Given the description of an element on the screen output the (x, y) to click on. 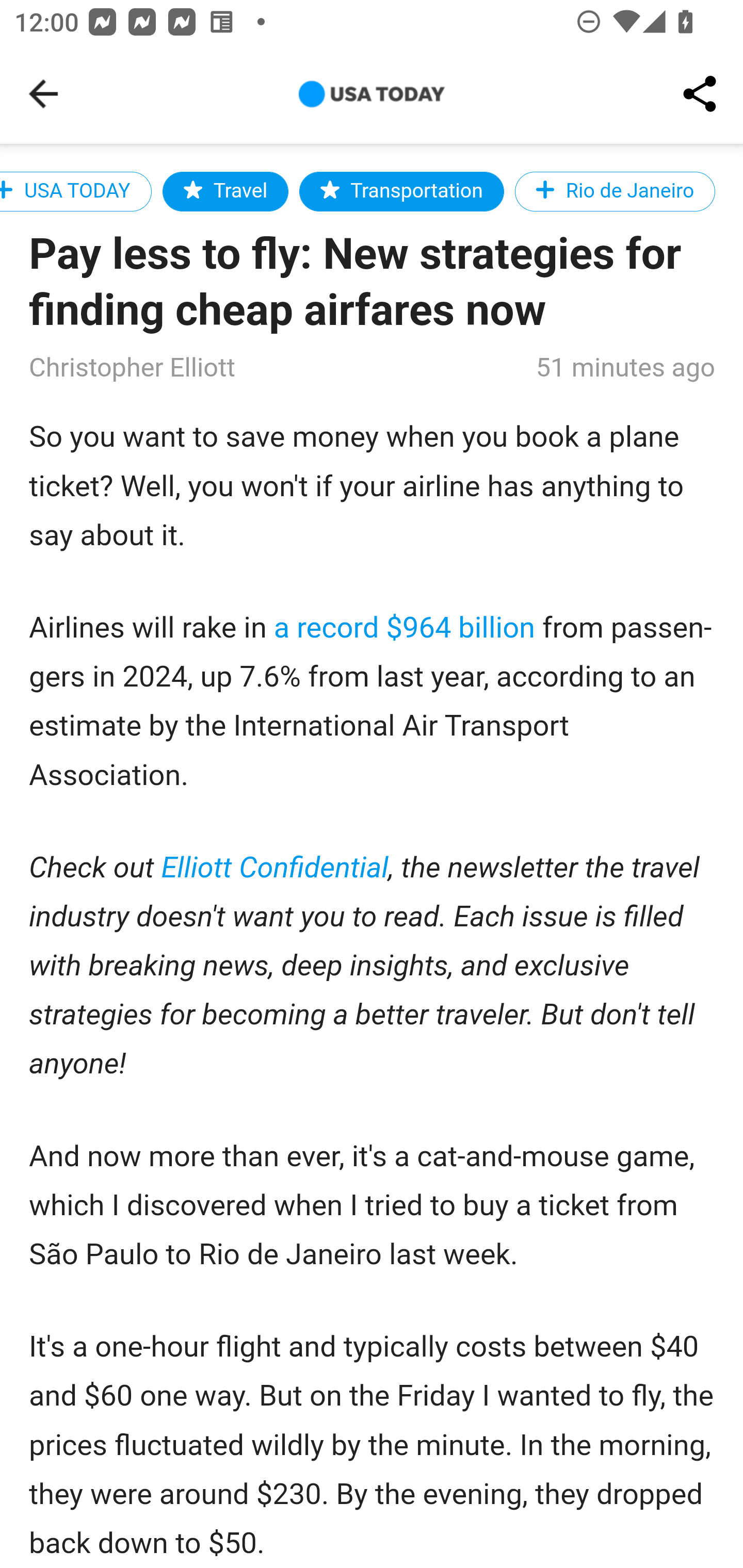
USA TODAY (75, 191)
Travel (224, 191)
Transportation (401, 191)
Rio de Janeiro (614, 191)
a record $964 billion (404, 627)
Elliott Confidential (275, 868)
